Given the description of an element on the screen output the (x, y) to click on. 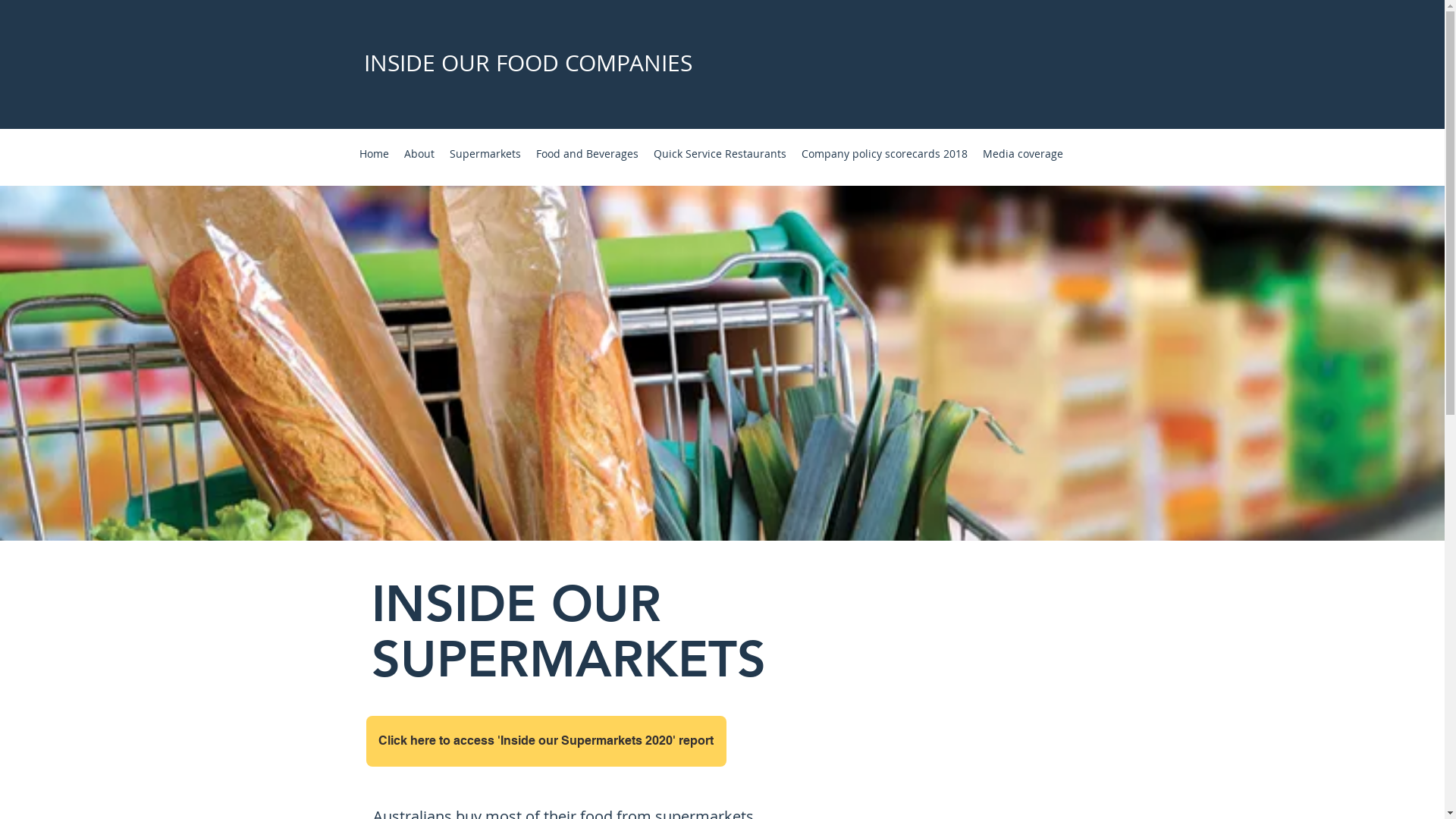
Media coverage Element type: text (1022, 153)
Food and Beverages Element type: text (586, 153)
About Element type: text (418, 153)
Home Element type: text (373, 153)
Quick Service Restaurants Element type: text (719, 153)
Company policy scorecards 2018 Element type: text (883, 153)
Click here to access 'Inside our Supermarkets 2020' report Element type: text (545, 740)
Supermarkets Element type: text (484, 153)
INSIDE OUR FOOD COMPANIES Element type: text (528, 62)
